Given the description of an element on the screen output the (x, y) to click on. 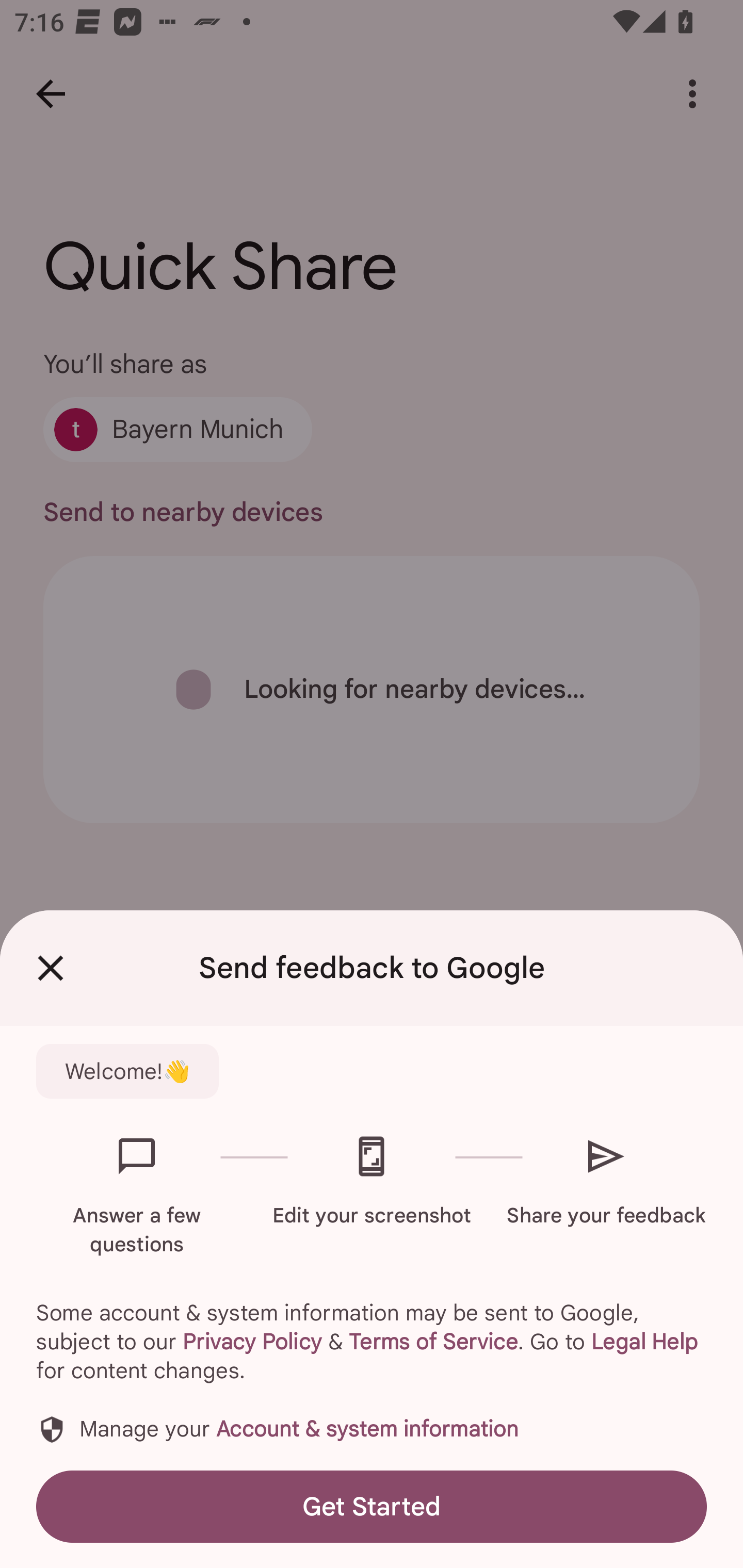
Close Feedback (50, 968)
Get Started (371, 1505)
